Given the description of an element on the screen output the (x, y) to click on. 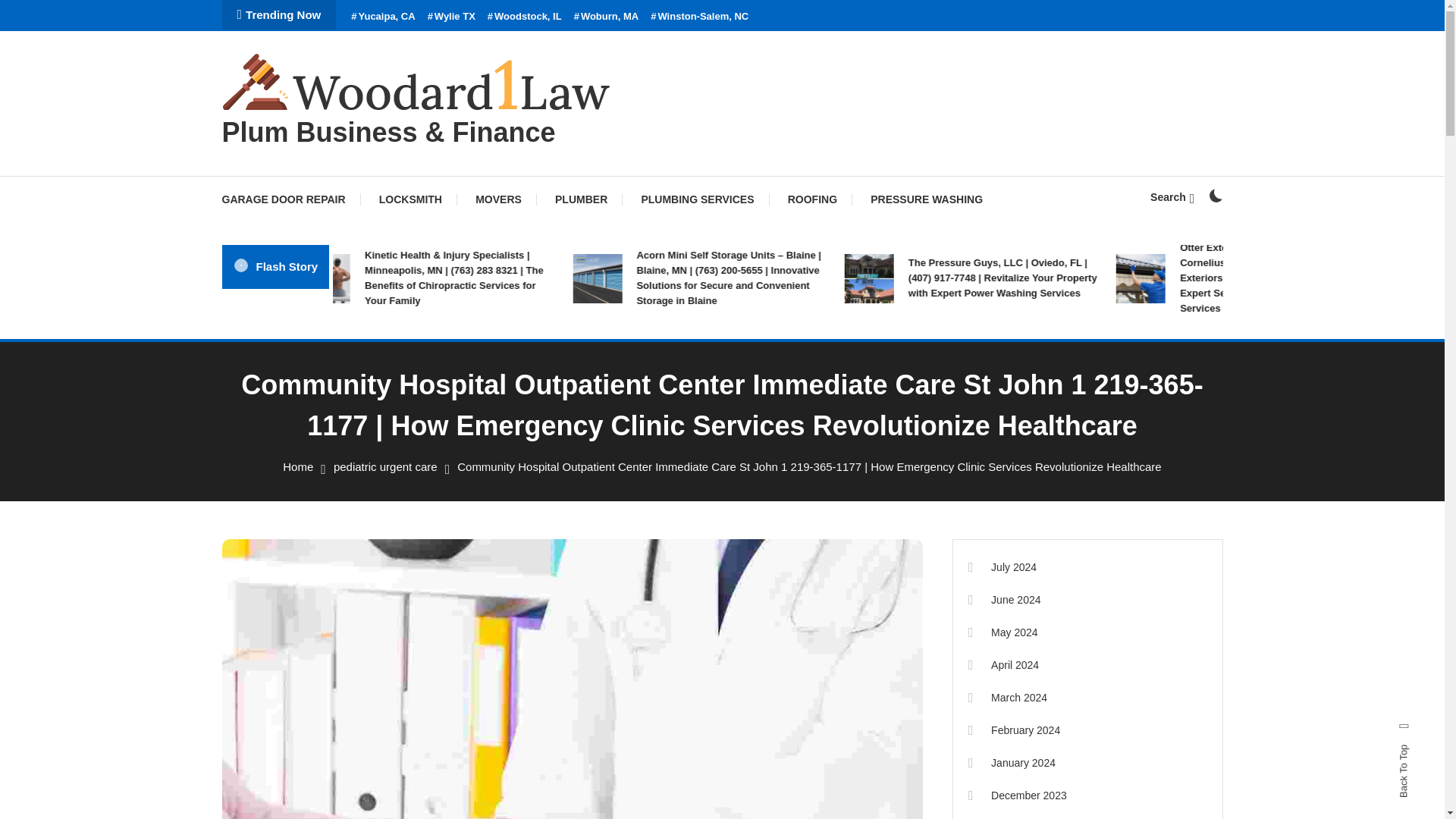
Search (768, 434)
PLUMBING SERVICES (697, 198)
Yucaipa, CA (382, 16)
on (1215, 195)
MOVERS (498, 198)
GARAGE DOOR REPAIR (290, 198)
PLUMBER (581, 198)
LOCKSMITH (410, 198)
ROOFING (812, 198)
PRESSURE WASHING (926, 198)
pediatric urgent care (385, 466)
Winston-Salem, NC (699, 16)
Wylie TX (452, 16)
Search (1171, 196)
Home (297, 466)
